Given the description of an element on the screen output the (x, y) to click on. 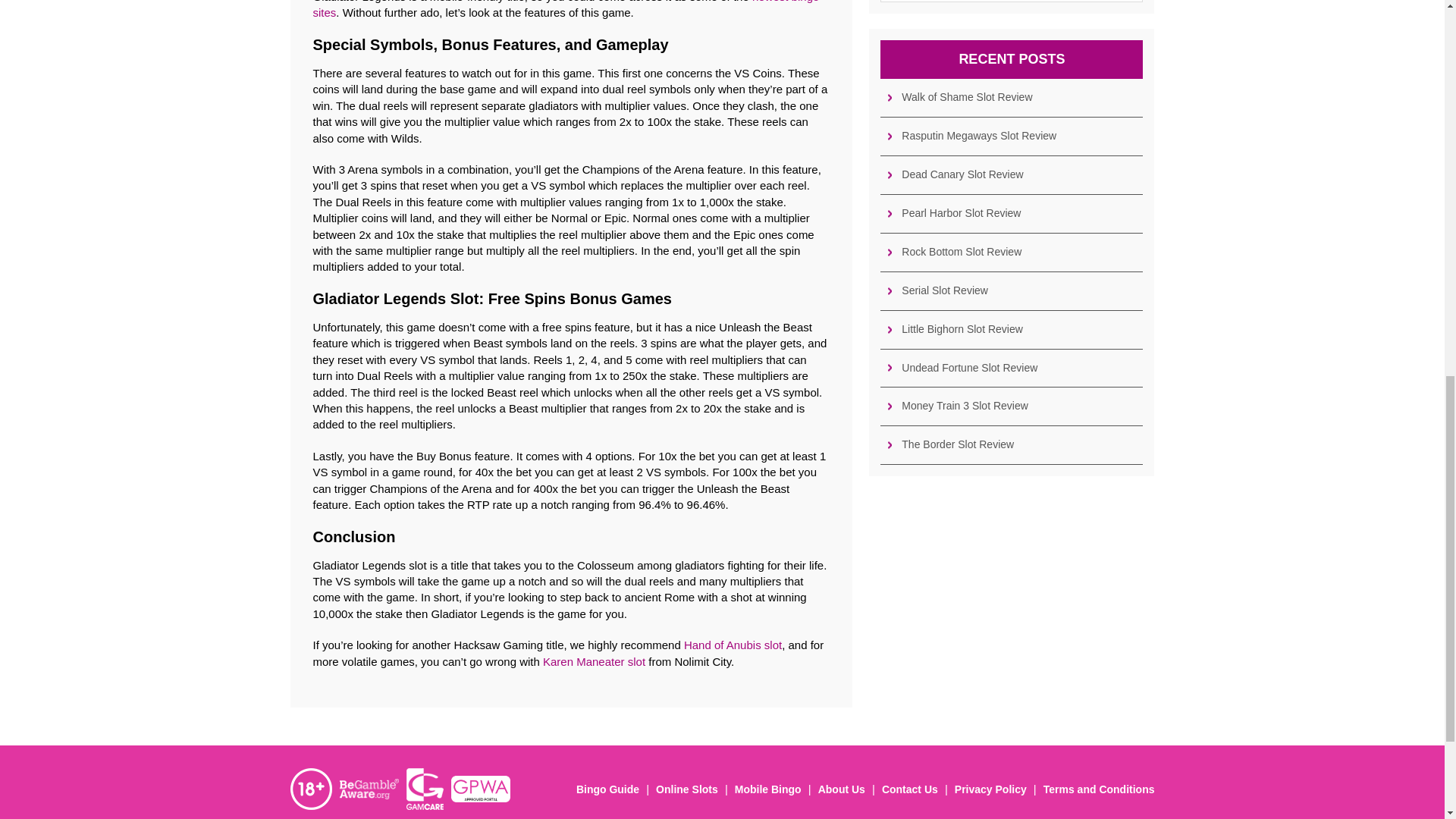
newest bingo sites (565, 9)
Hand of Anubis slot (732, 644)
Karen Maneater slot (594, 661)
